Given the description of an element on the screen output the (x, y) to click on. 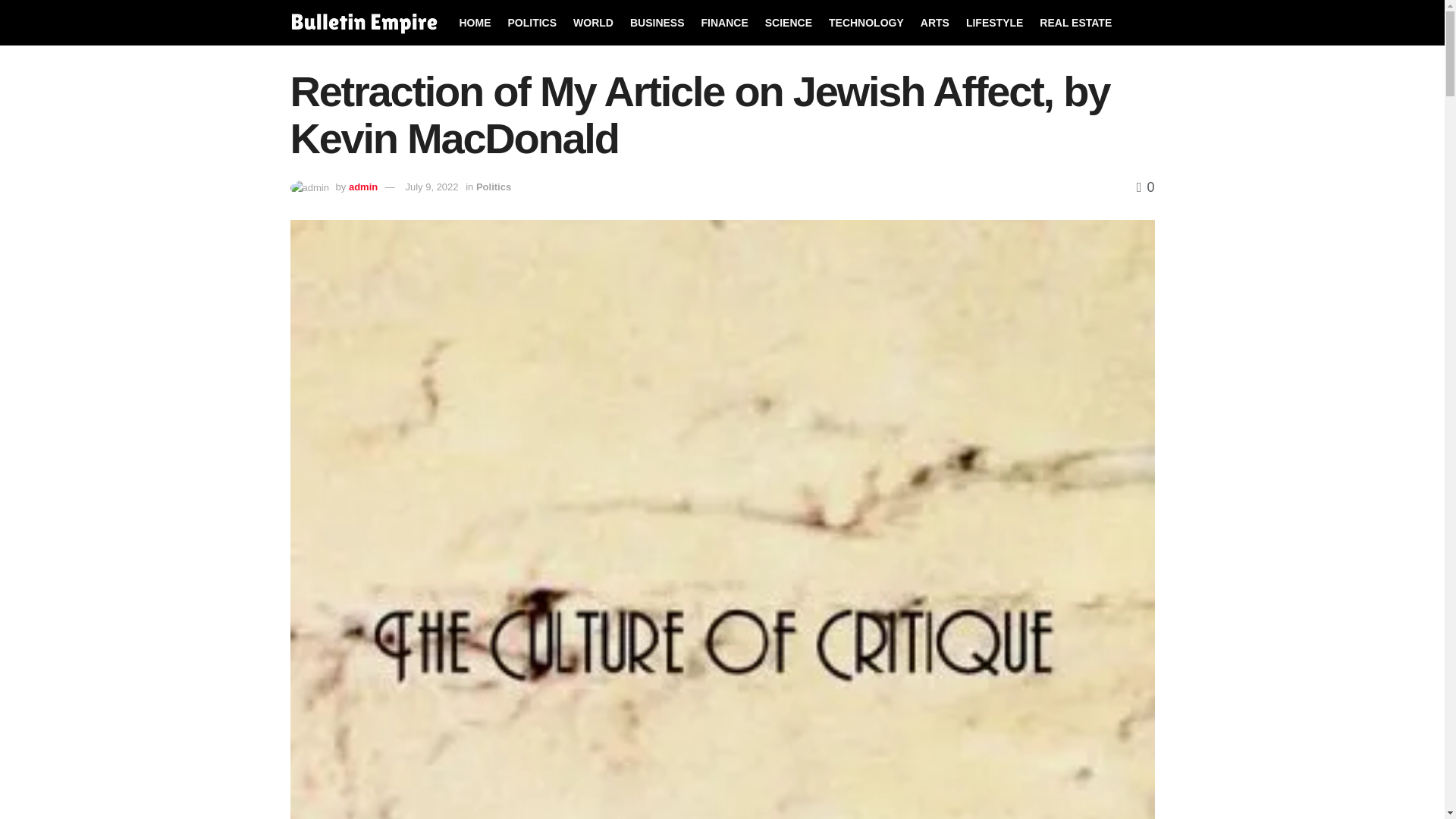
0 (1145, 186)
ARTS (934, 22)
REAL ESTATE (1075, 22)
admin (363, 186)
WORLD (592, 22)
SCIENCE (788, 22)
HOME (476, 22)
BUSINESS (657, 22)
July 9, 2022 (431, 186)
POLITICS (532, 22)
TECHNOLOGY (866, 22)
Politics (493, 186)
FINANCE (724, 22)
LIFESTYLE (994, 22)
